Given the description of an element on the screen output the (x, y) to click on. 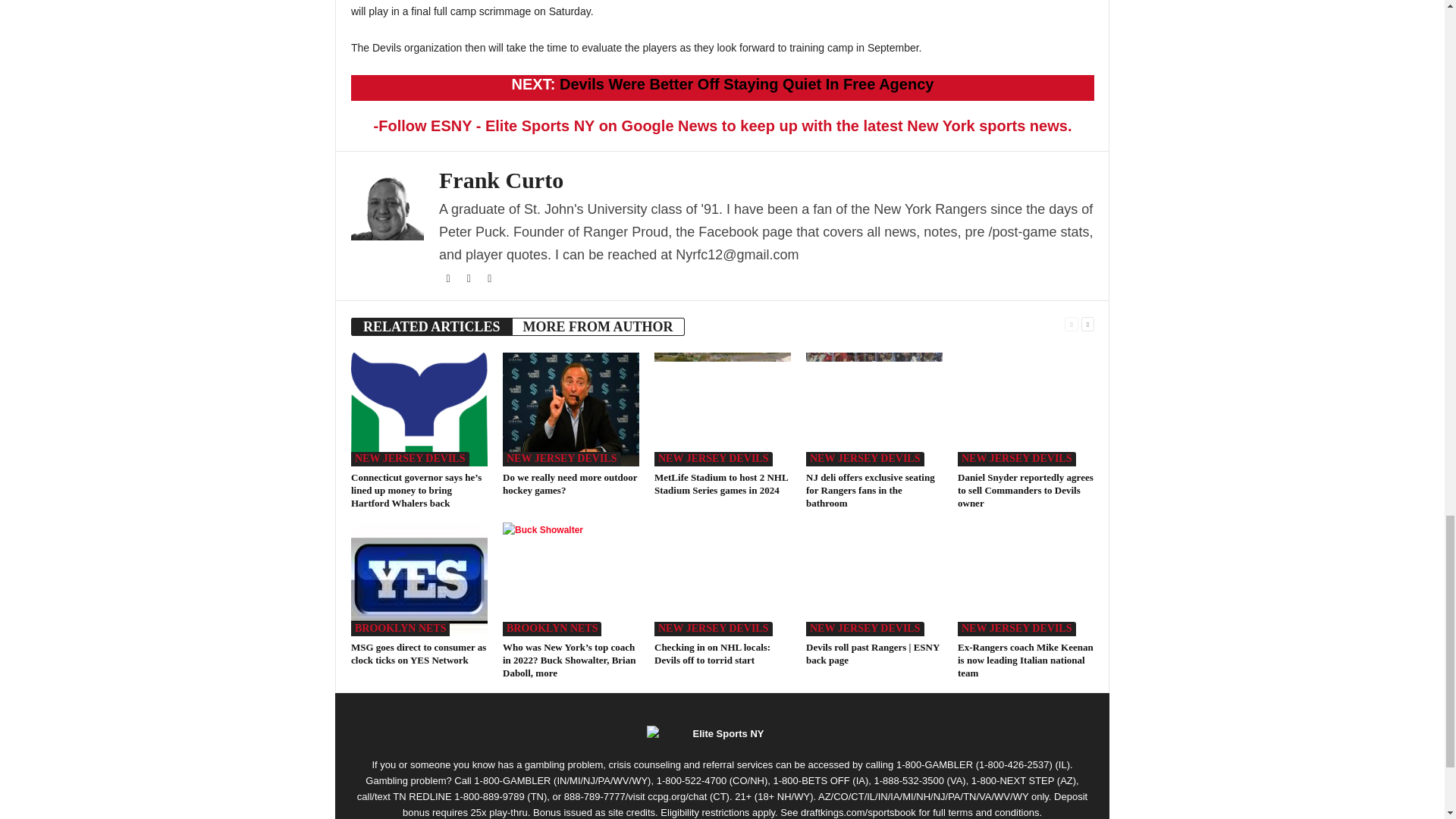
Instagram (489, 278)
Do we really need more outdoor hockey games? (570, 409)
Facebook (449, 278)
Twitter (470, 278)
